Given the description of an element on the screen output the (x, y) to click on. 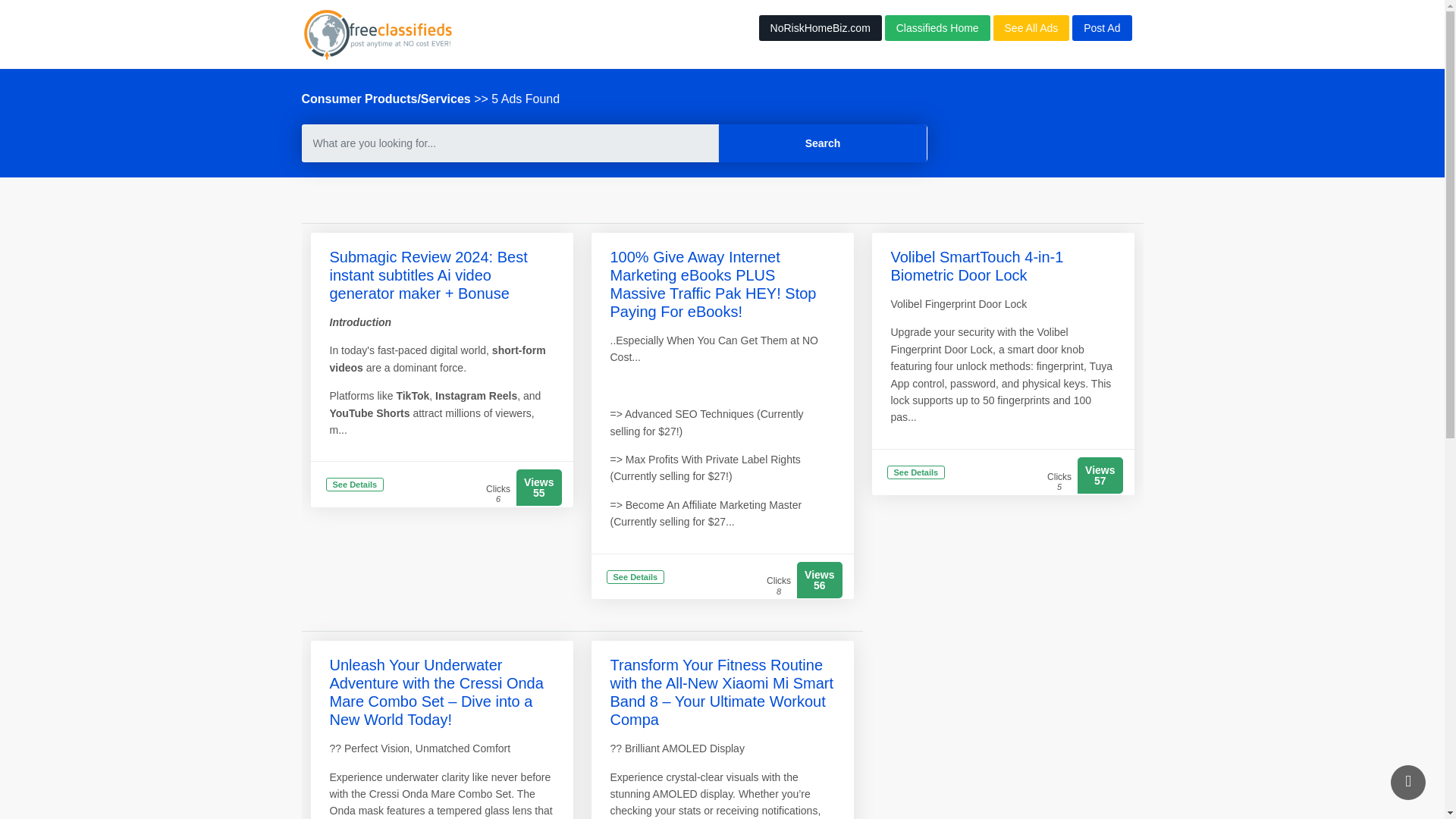
See All Ads (1031, 27)
See Details (636, 577)
See Details (355, 485)
Volibel SmartTouch 4-in-1 Biometric Door Lock (975, 265)
Search (823, 143)
Post Ad (1101, 27)
Search (823, 143)
Classifieds Home (937, 27)
NoRiskHomeBiz.com (820, 27)
See Details (915, 473)
